Given the description of an element on the screen output the (x, y) to click on. 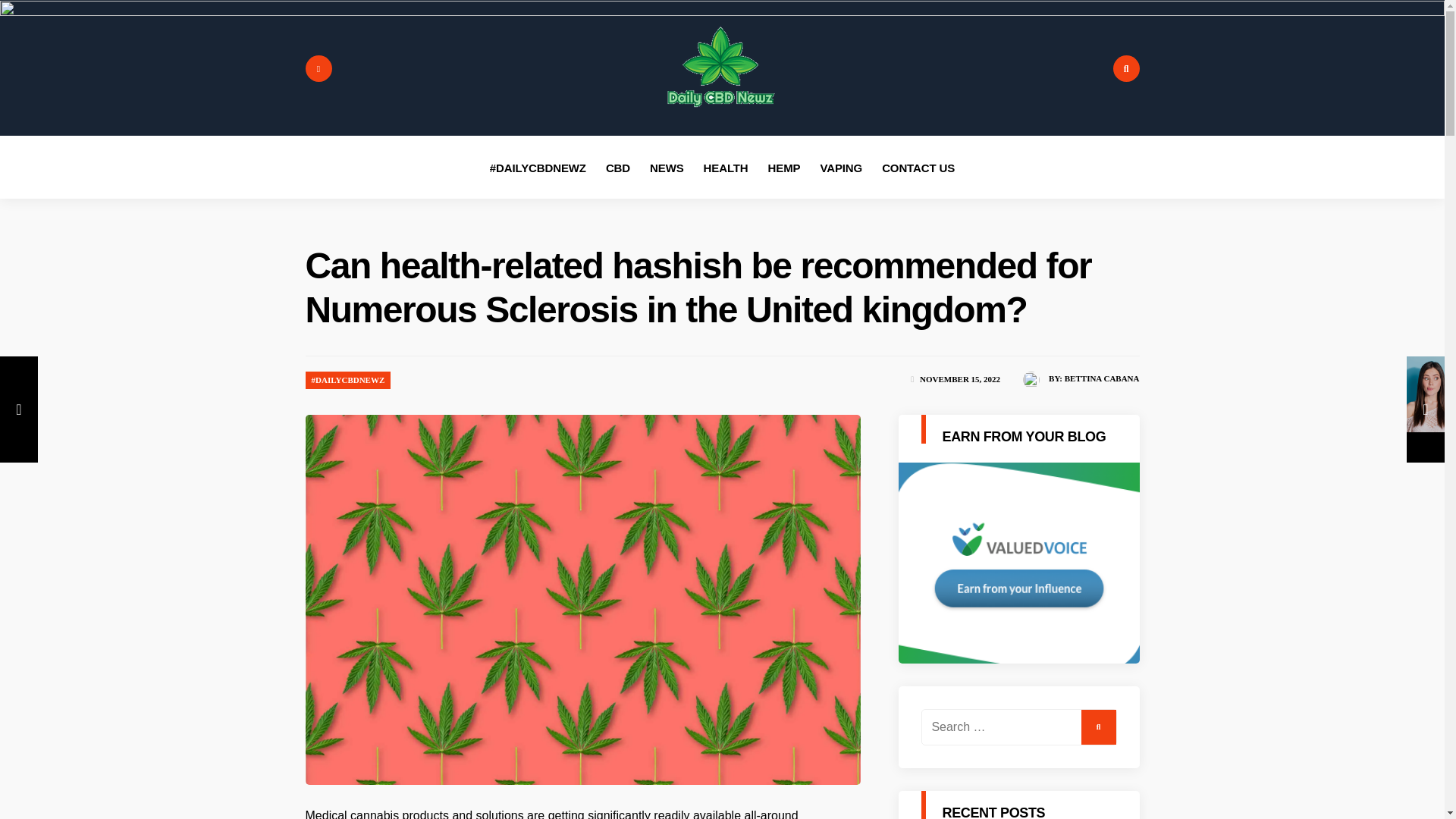
CBD (617, 167)
HEALTH (725, 167)
BETTINA CABANA (1102, 378)
NEWS (666, 167)
HEMP (784, 167)
CONTACT US (918, 167)
VAPING (840, 167)
Posts by Bettina Cabana (1102, 378)
